Given the description of an element on the screen output the (x, y) to click on. 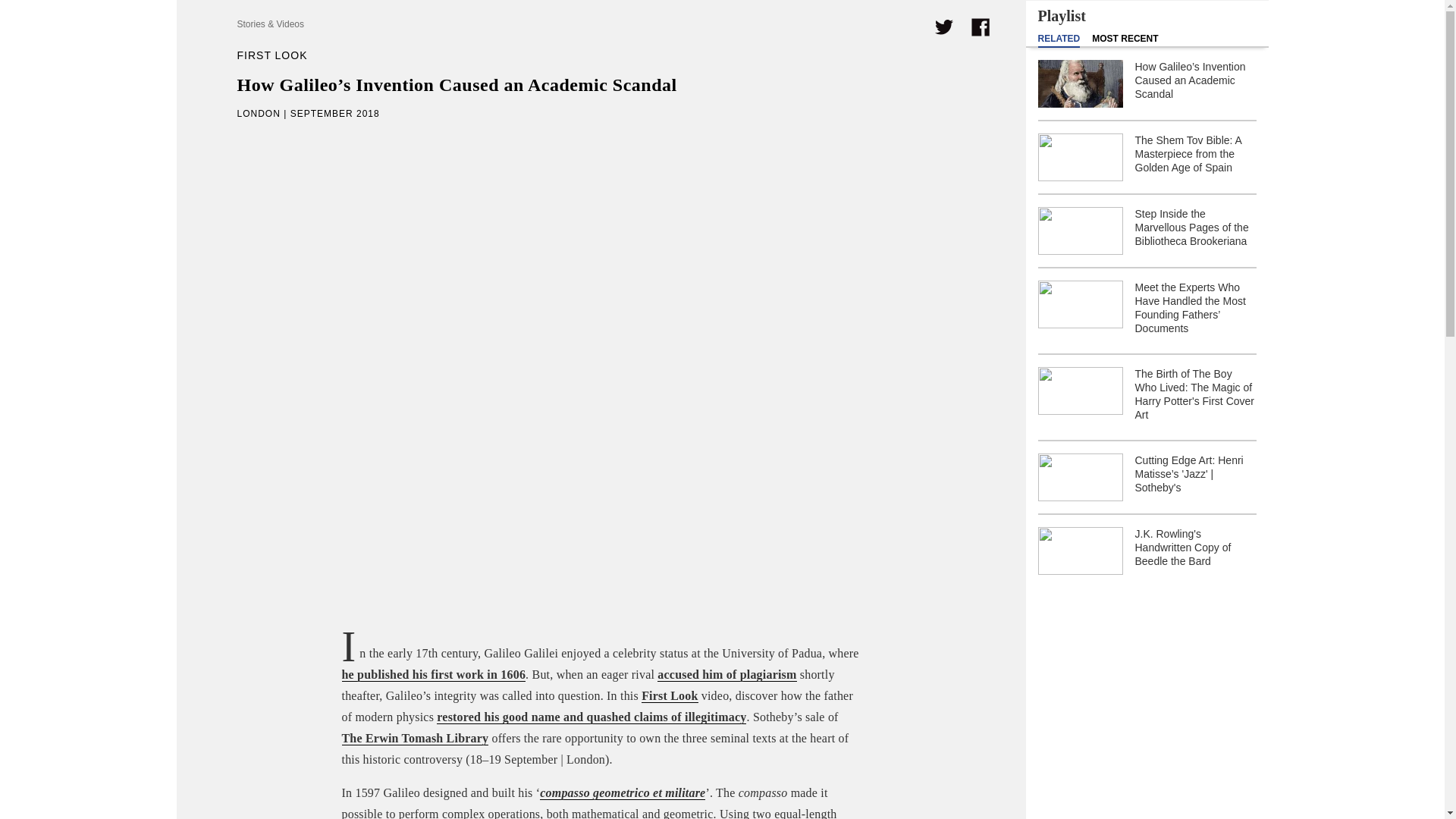
accused him of plagiarism (727, 674)
compasso geometrico et militare (622, 793)
restored his good name and quashed claims of illegitimacy (590, 716)
he published his first work in 1606 (432, 674)
FIRST LOOK (271, 55)
The Erwin Tomash Library (413, 738)
First Look (669, 695)
